Given the description of an element on the screen output the (x, y) to click on. 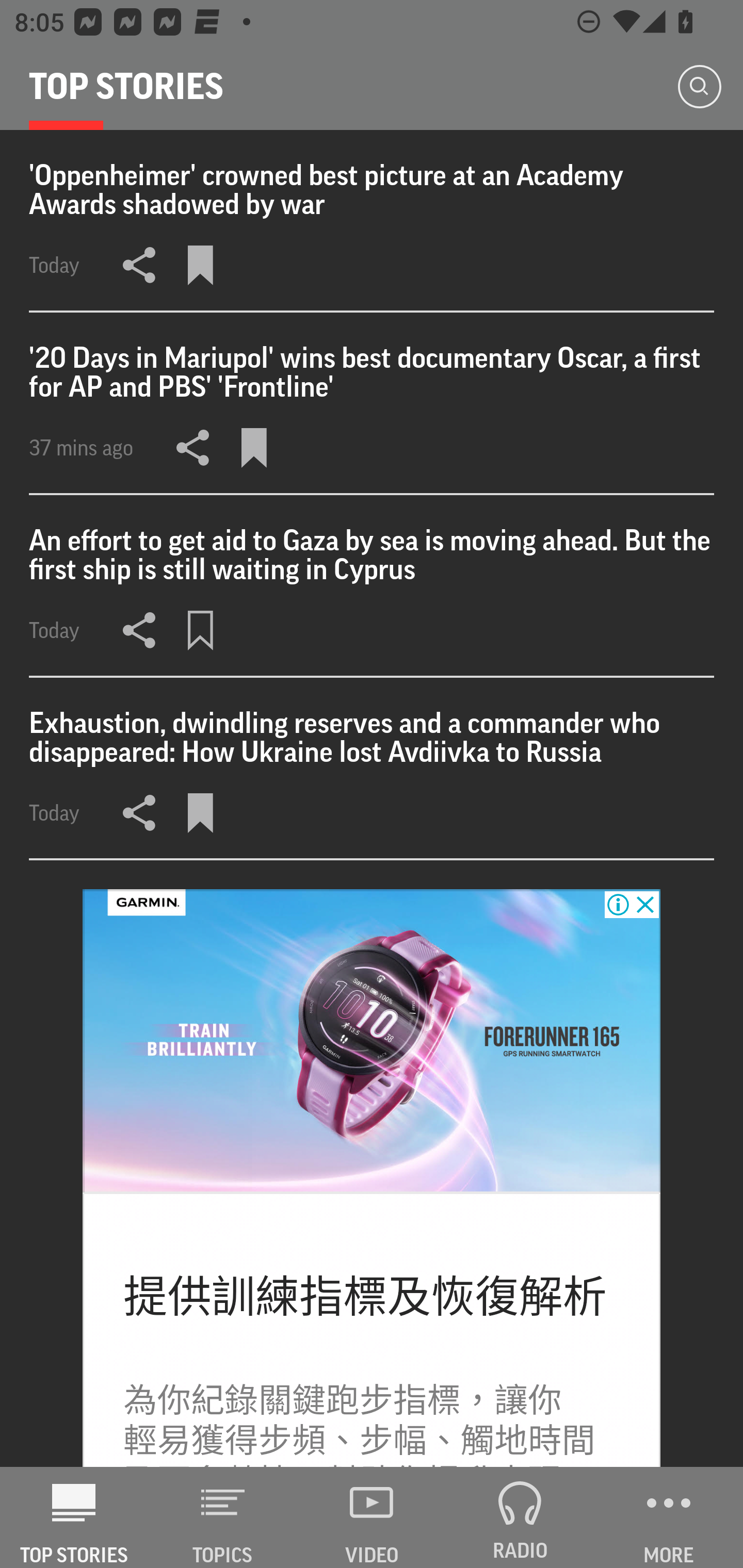
forerunner-165-music-black (371, 1041)
提供訓練指標及恢復解析 (364, 1297)
AP News TOP STORIES (74, 1517)
TOPICS (222, 1517)
VIDEO (371, 1517)
RADIO (519, 1517)
MORE (668, 1517)
